Given the description of an element on the screen output the (x, y) to click on. 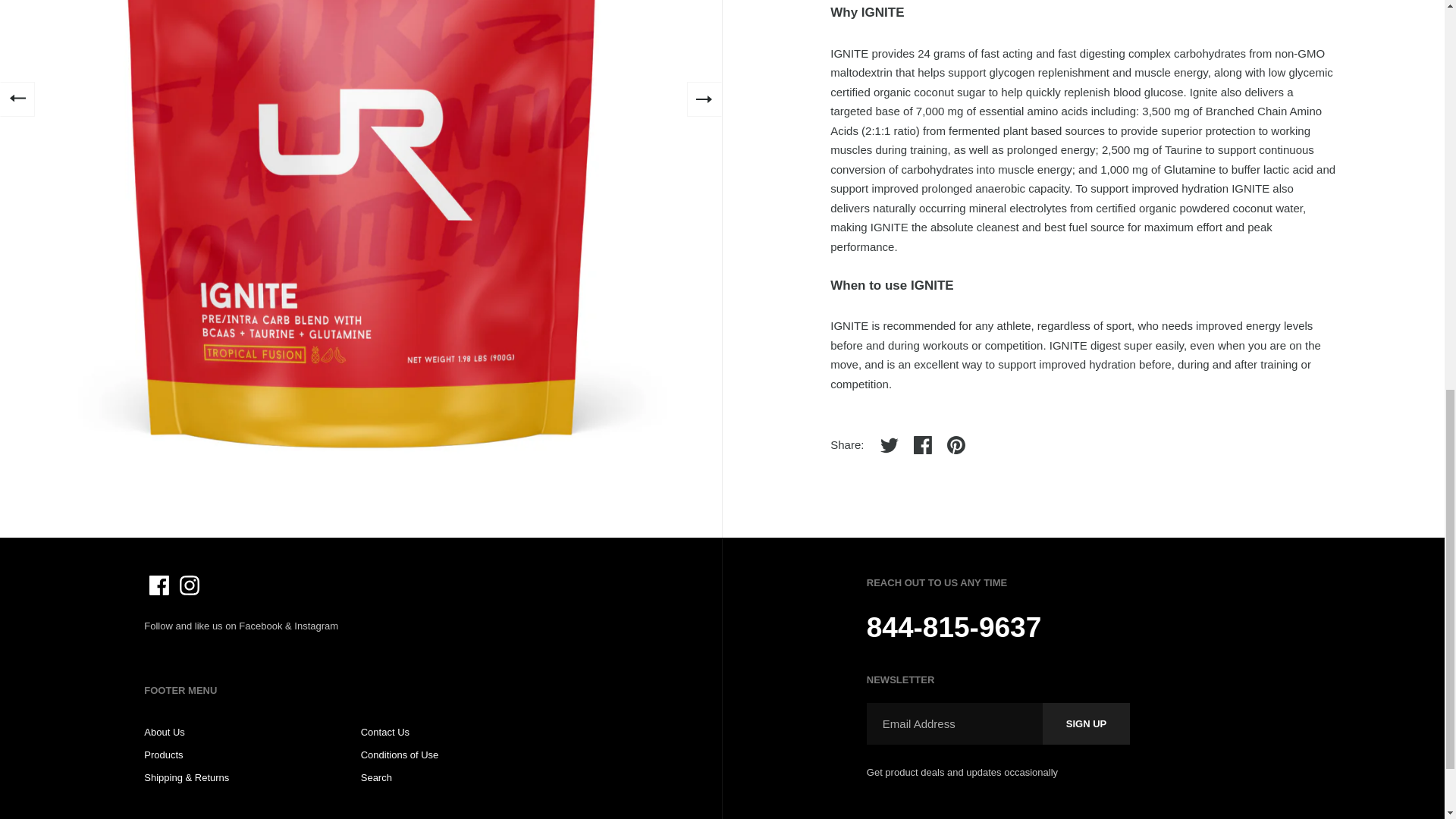
Products (163, 754)
Contact Us (385, 731)
Conditions of Use (400, 754)
About Us (164, 731)
Sign up (1085, 723)
